Given the description of an element on the screen output the (x, y) to click on. 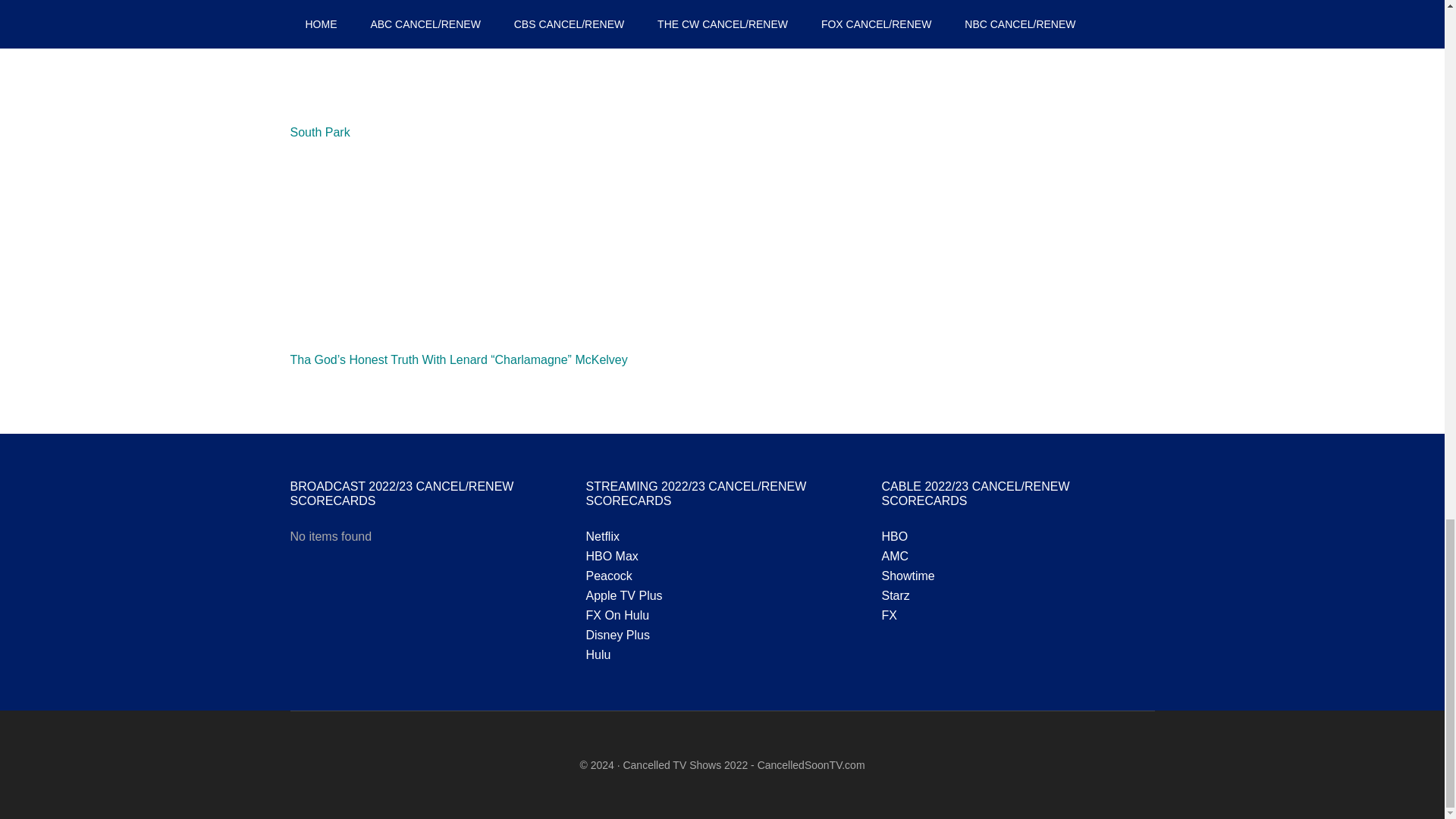
South Park (319, 132)
